Given the description of an element on the screen output the (x, y) to click on. 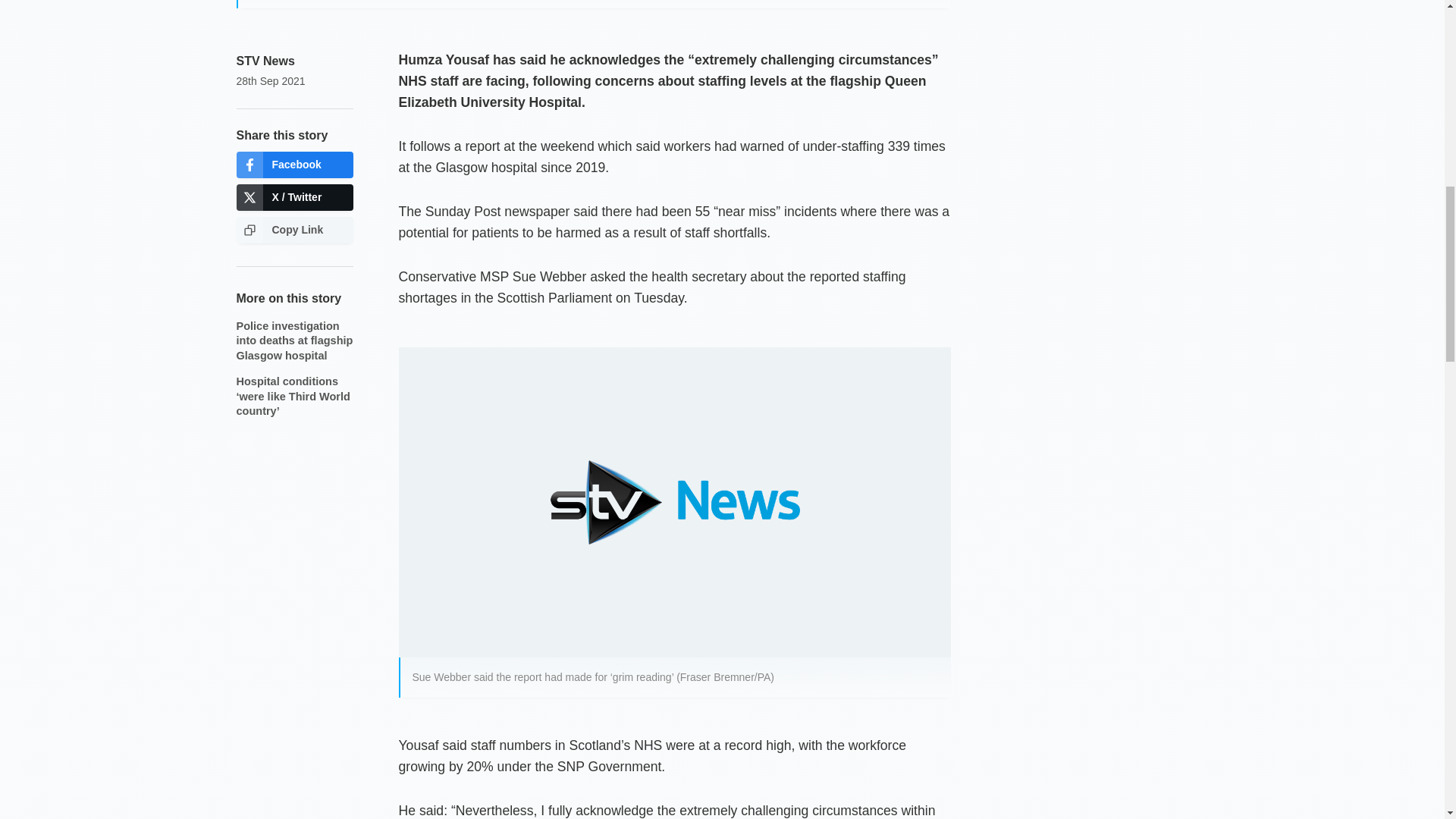
Facebook (294, 164)
